Given the description of an element on the screen output the (x, y) to click on. 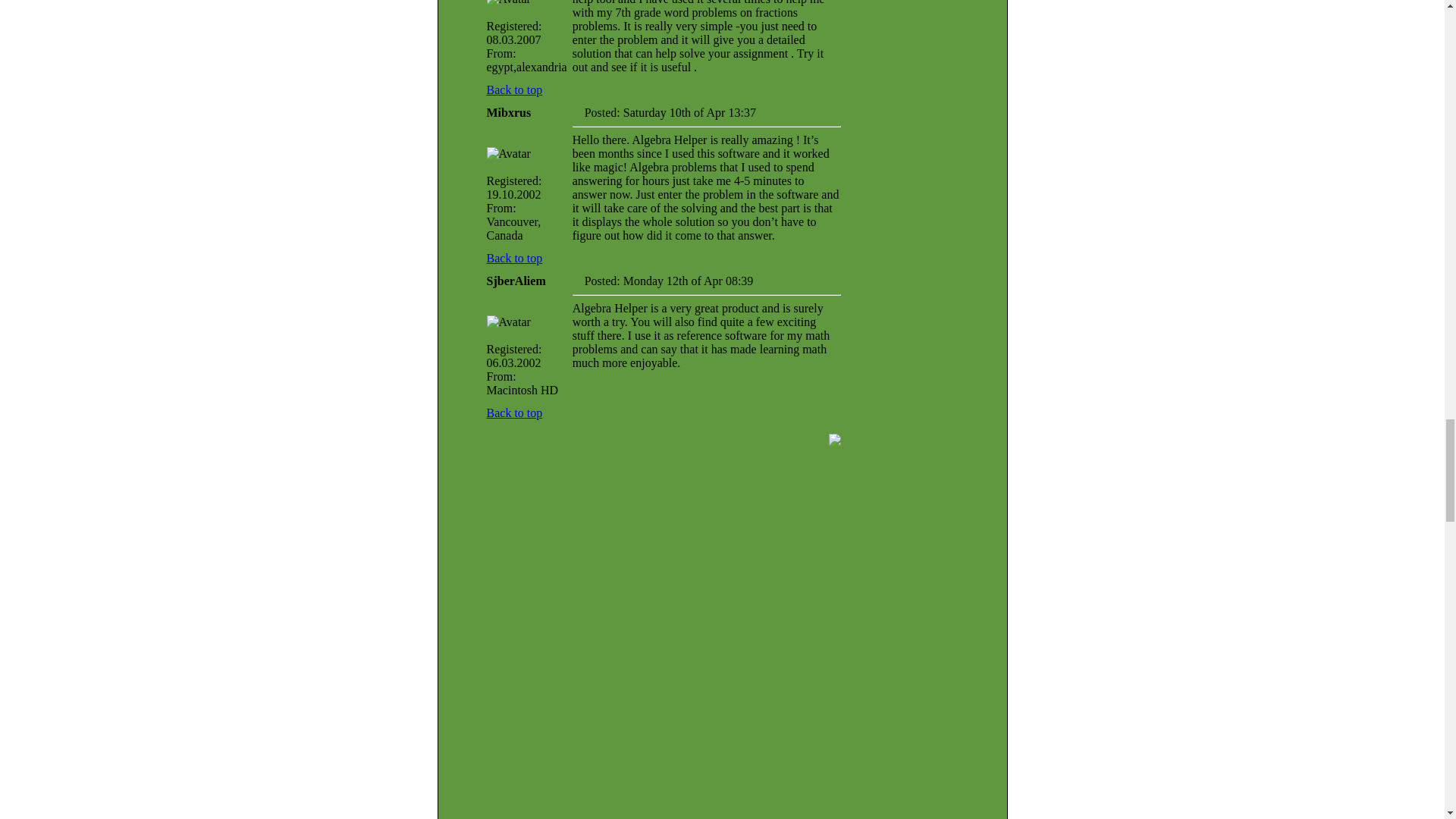
Back to top (514, 412)
Back to top (514, 89)
Back to top (514, 257)
